Given the description of an element on the screen output the (x, y) to click on. 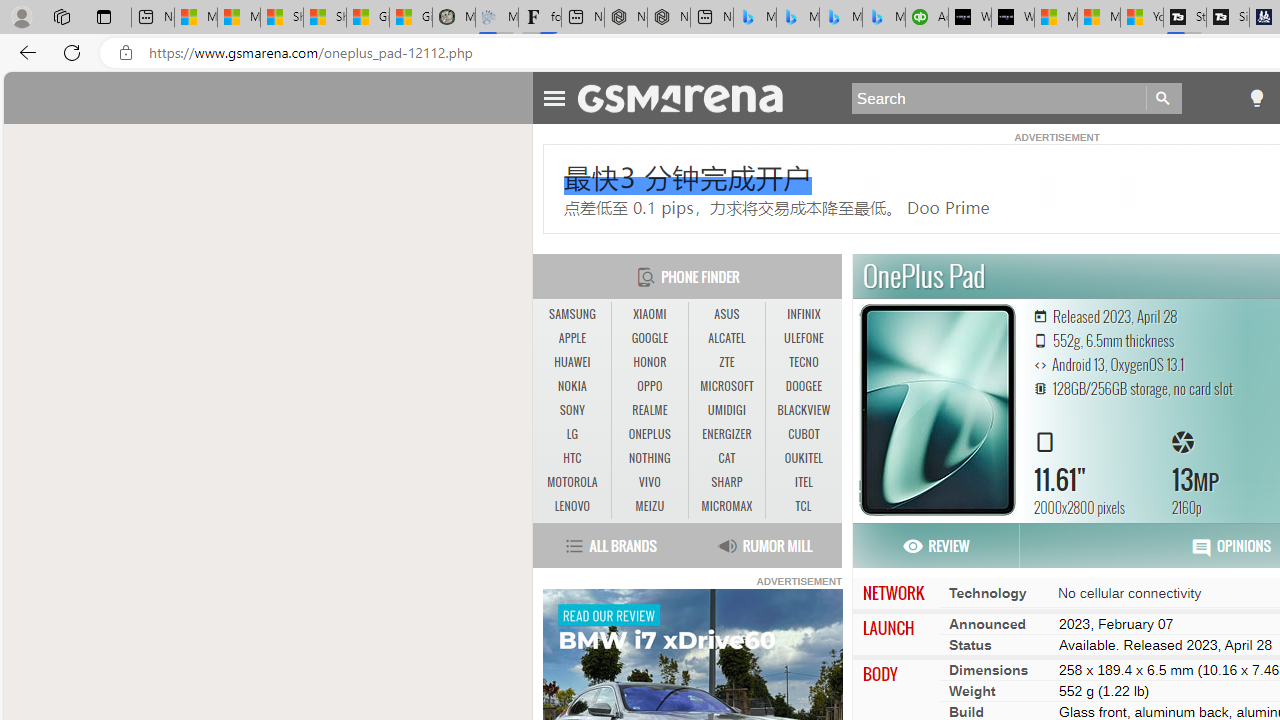
Status (970, 644)
Technology (987, 592)
HONOR (649, 362)
DOOGEE (803, 385)
ENERGIZER (726, 434)
MICROMAX (726, 506)
CUBOT (803, 434)
LG (571, 434)
BLACKVIEW (803, 410)
GOOGLE (649, 338)
Streaming Coverage | T3 (1184, 17)
